Given the description of an element on the screen output the (x, y) to click on. 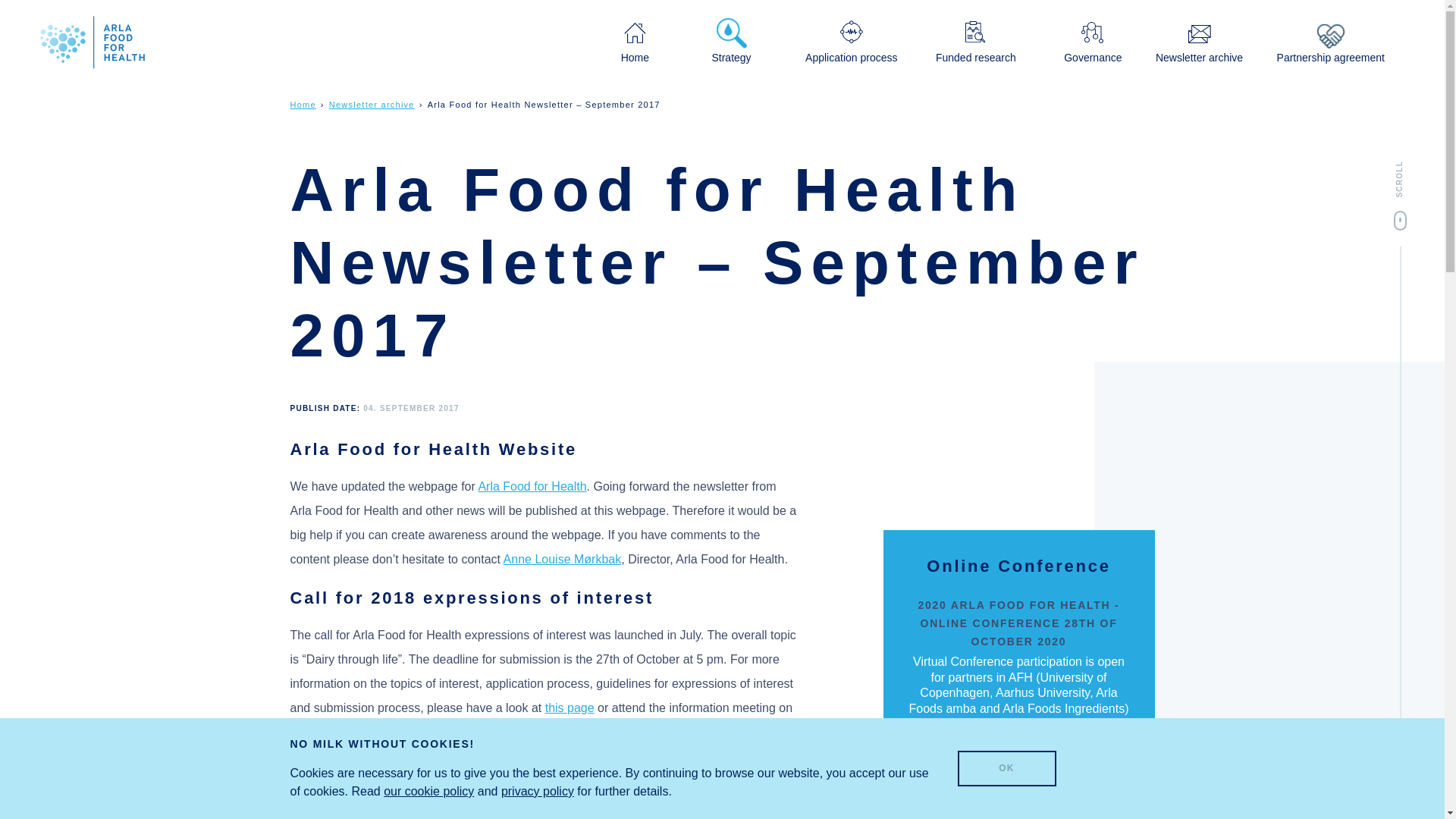
Go to Home. (302, 103)
Newsletter archive (371, 103)
home Created with Sketch. (635, 32)
Home (302, 103)
Partnership agreement (1330, 42)
OK (1005, 769)
privacy policy (536, 790)
Go to Newsletter archive. (371, 103)
Funded research (976, 40)
Governance (1092, 40)
